Given the description of an element on the screen output the (x, y) to click on. 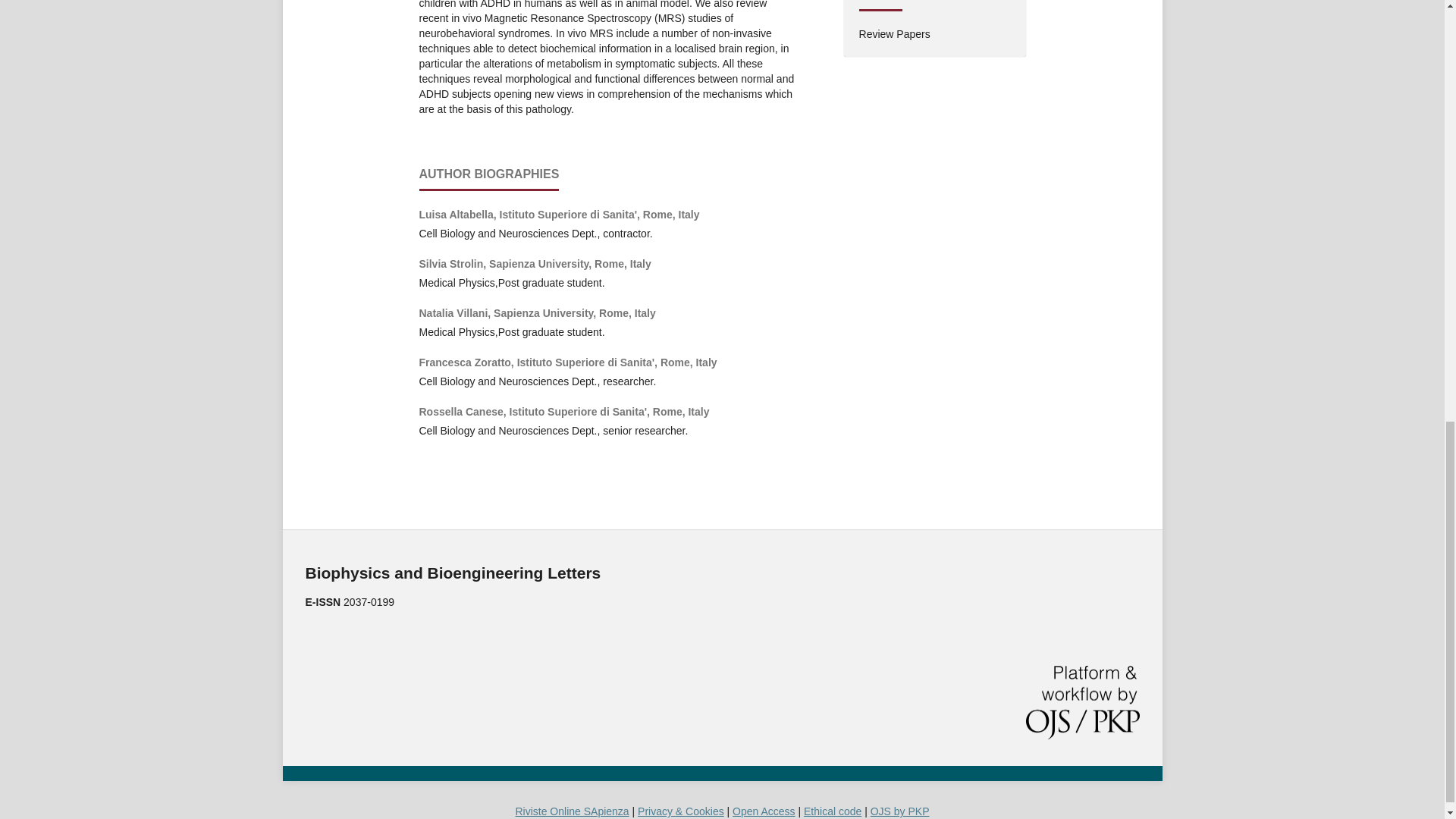
OJS by PKP (900, 811)
Riviste Online SApienza (571, 811)
Open Access (763, 811)
Ethical code (832, 811)
